Given the description of an element on the screen output the (x, y) to click on. 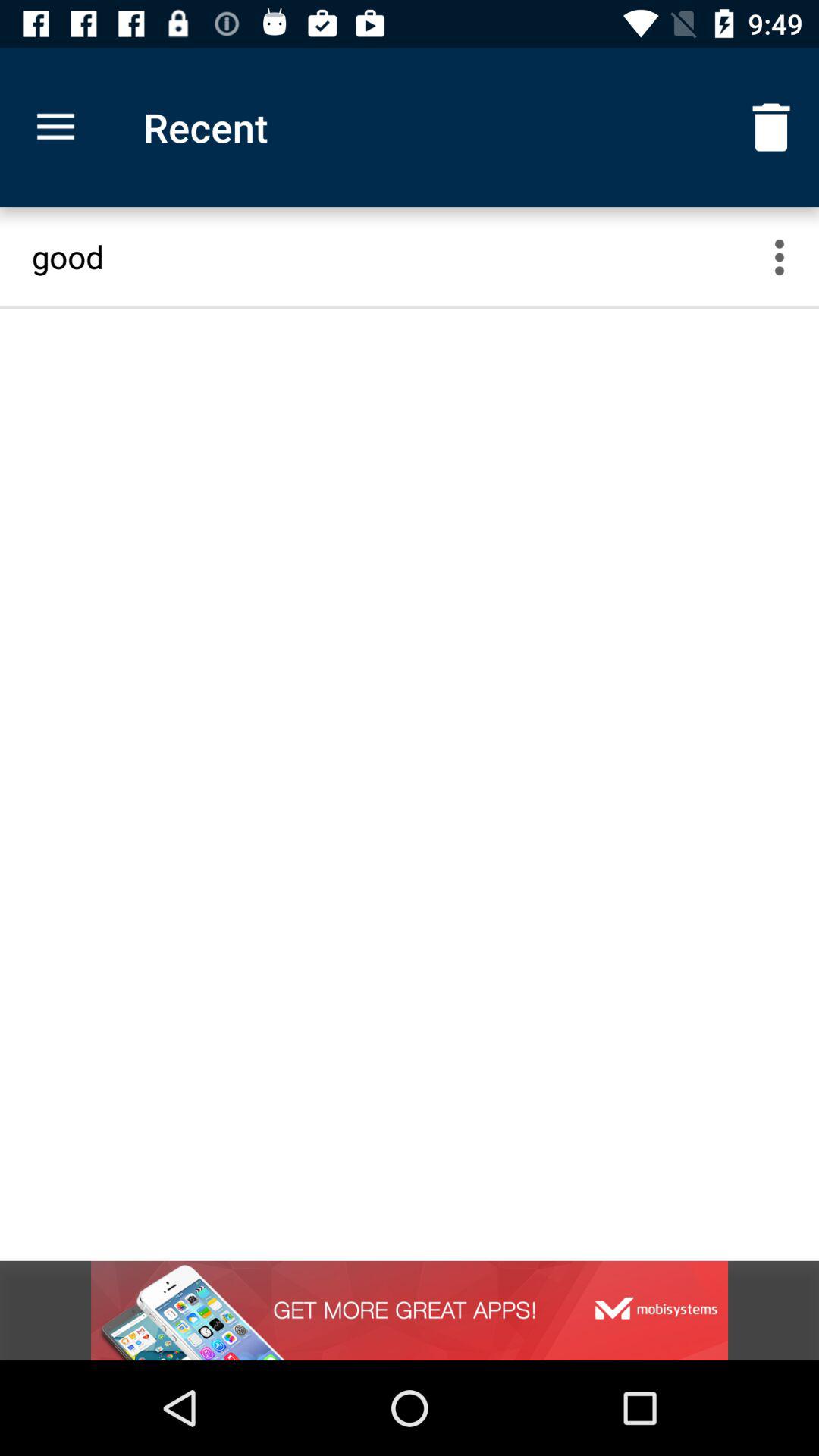
open item above the good icon (55, 127)
